Given the description of an element on the screen output the (x, y) to click on. 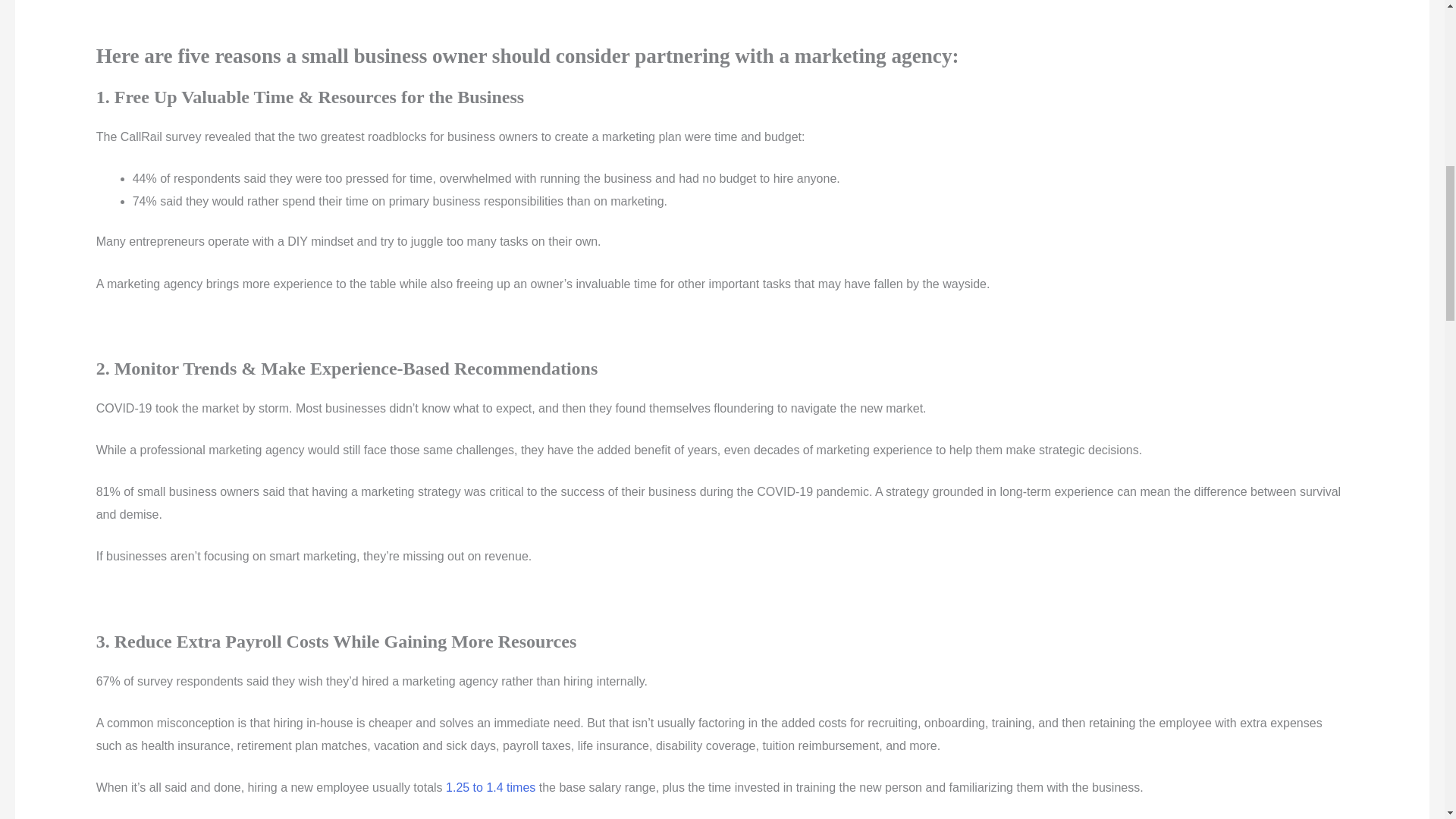
1.25 to 1.4 times (490, 787)
